Given the description of an element on the screen output the (x, y) to click on. 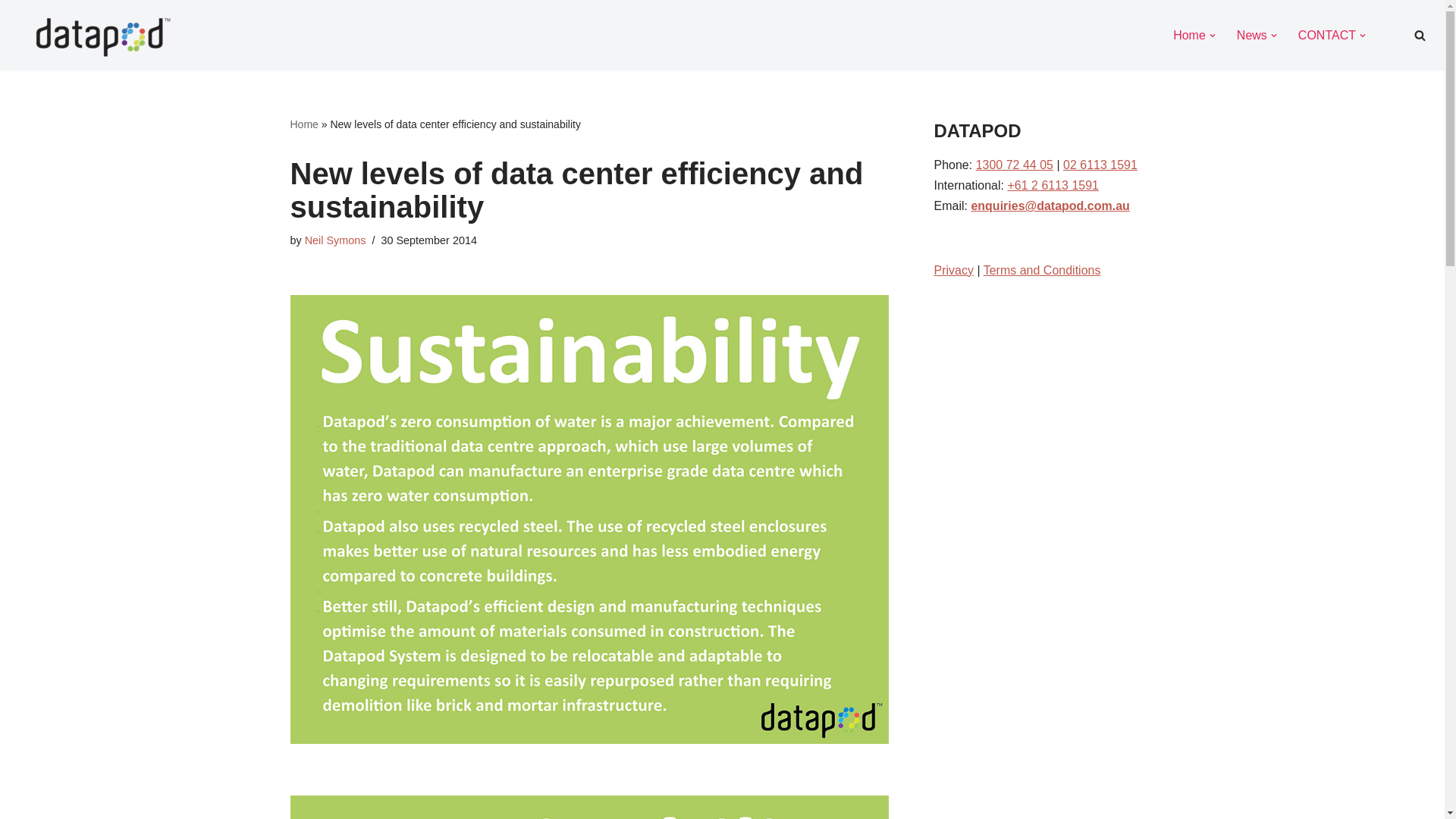
1300 72 44 05 Element type: text (1014, 164)
CONTACT Element type: text (1326, 35)
News Element type: text (1251, 35)
Privacy Element type: text (953, 269)
enquiries@datapod.com.au Element type: text (1049, 205)
Home Element type: text (1189, 35)
Neil Symons Element type: text (335, 240)
Skip to content Element type: text (11, 31)
Home Element type: text (303, 124)
02 6113 1591 Element type: text (1100, 164)
Terms and Conditions Element type: text (1042, 269)
+61 2 6113 1591 Element type: text (1052, 184)
